Given the description of an element on the screen output the (x, y) to click on. 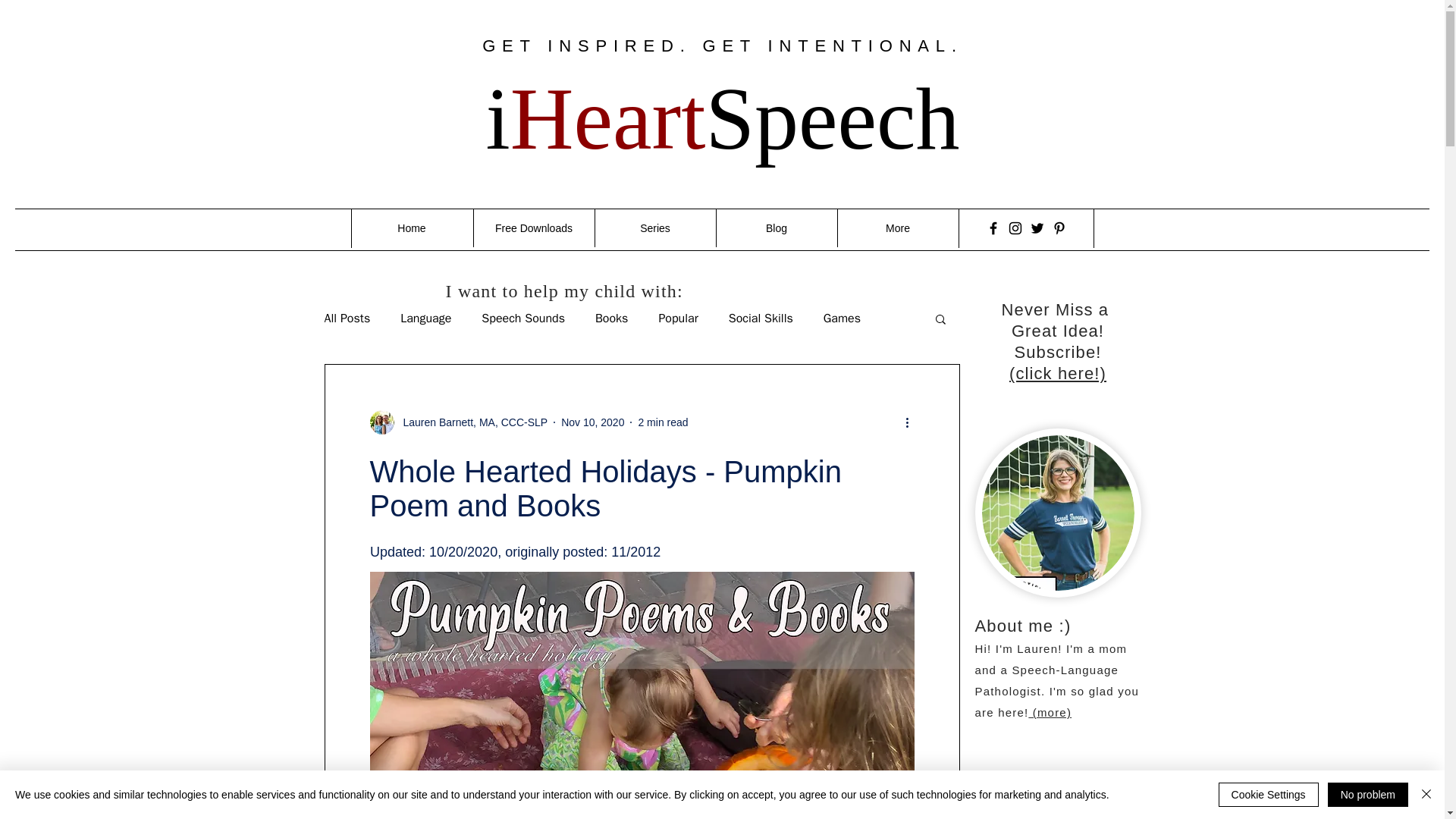
2 min read (662, 421)
Heart (608, 118)
Home (410, 228)
Blog (776, 228)
Lauren Barnett, MA, CCC-SLP (458, 422)
Language (425, 318)
Free Downloads (533, 228)
Games (842, 318)
Books (611, 318)
Nov 10, 2020 (592, 421)
Series (655, 228)
Speech (831, 118)
Social Skills (761, 318)
All Posts (347, 318)
Popular (677, 318)
